Given the description of an element on the screen output the (x, y) to click on. 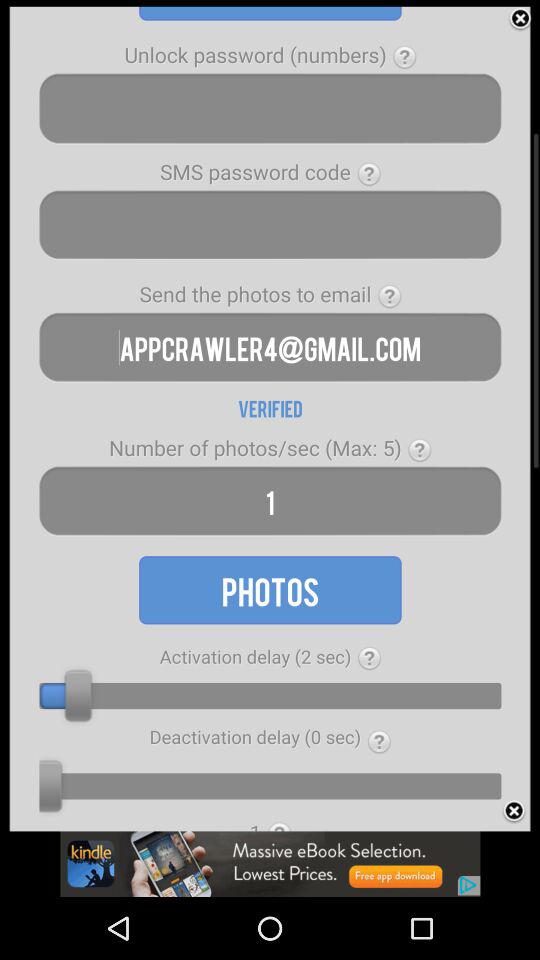
close option (520, 19)
